Given the description of an element on the screen output the (x, y) to click on. 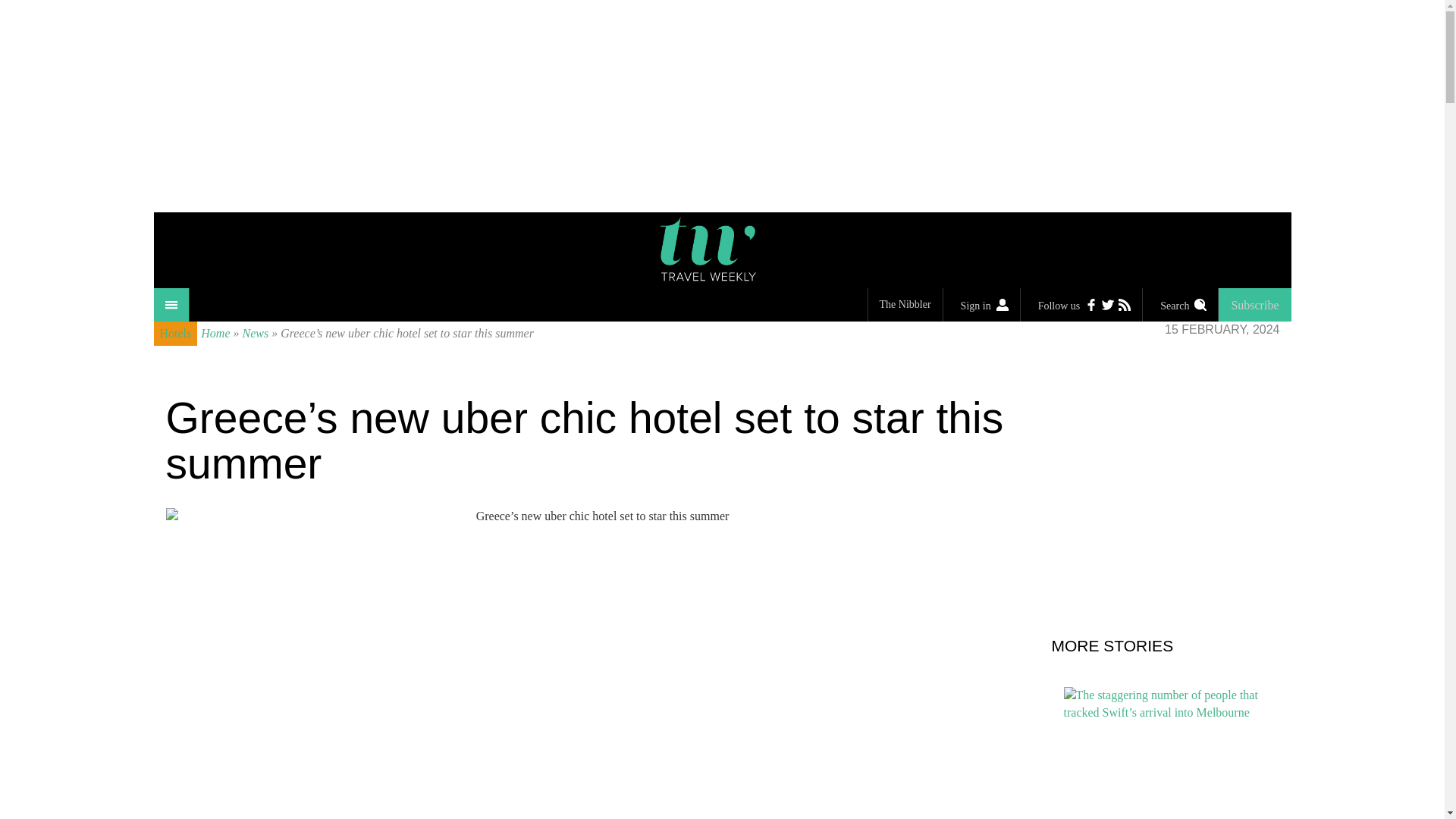
News (256, 332)
Subscribe (1254, 304)
Search (1179, 304)
Home (215, 332)
Follow us (1081, 304)
The Nibbler (904, 304)
Hotels (174, 333)
Sign in (981, 304)
